Given the description of an element on the screen output the (x, y) to click on. 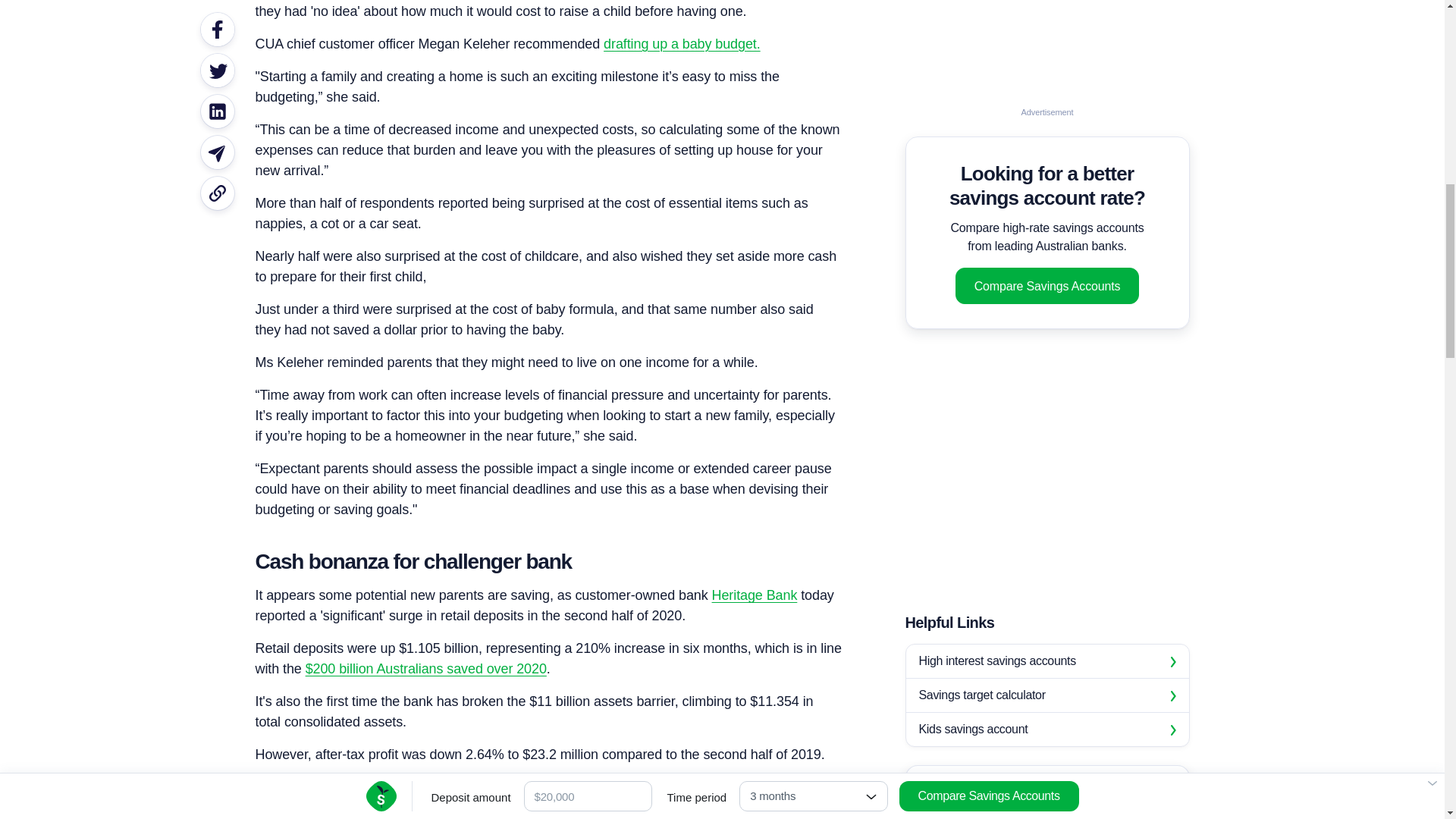
Share on LinkedIn (216, 11)
Copy Link (216, 87)
Share via Email (216, 46)
